Given the description of an element on the screen output the (x, y) to click on. 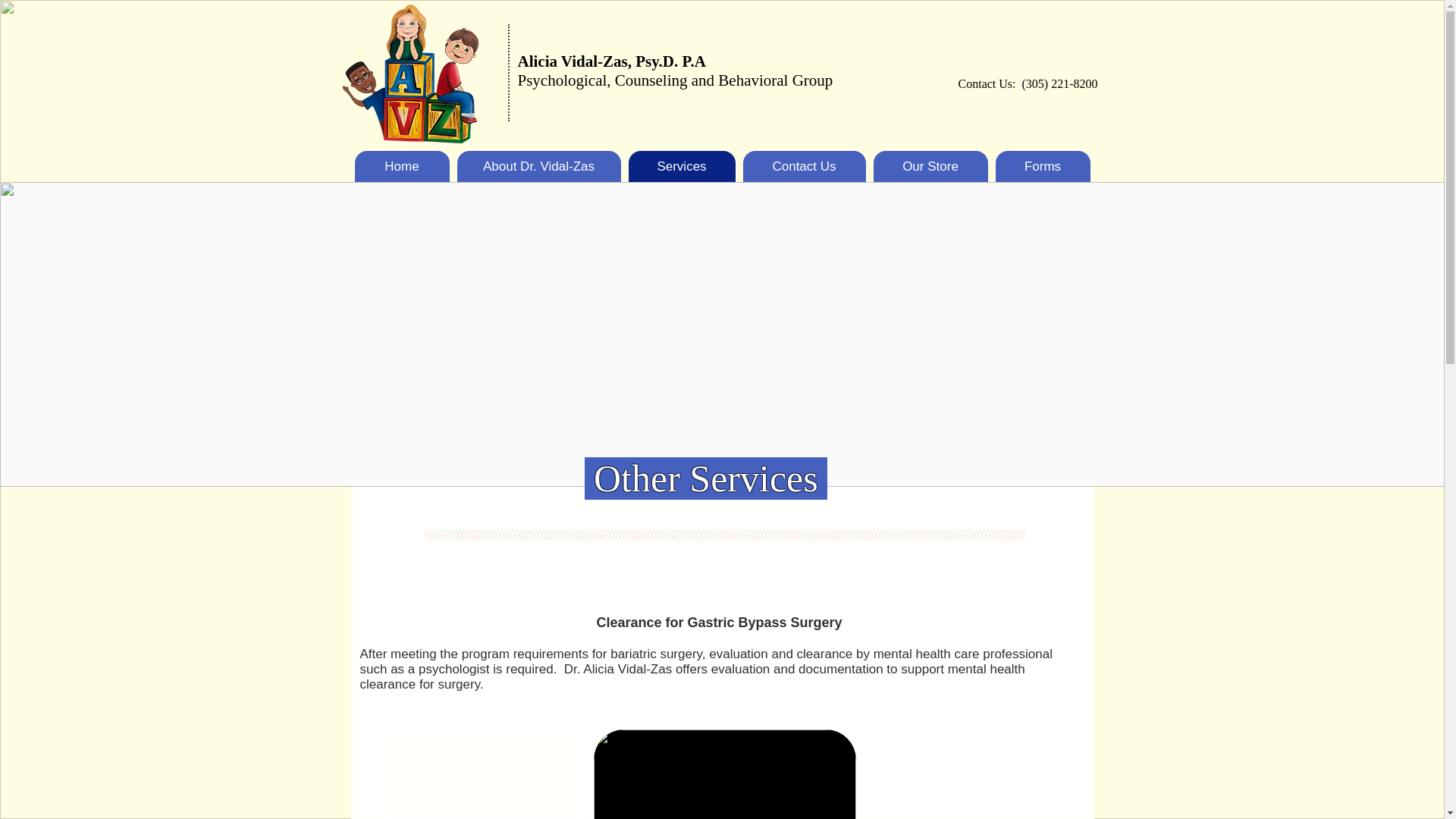
Forms (1041, 165)
Contact Us (804, 165)
Signature (724, 774)
Our Store (930, 165)
Services (681, 165)
Home (402, 165)
About Dr. Vidal-Zas (538, 165)
